Given the description of an element on the screen output the (x, y) to click on. 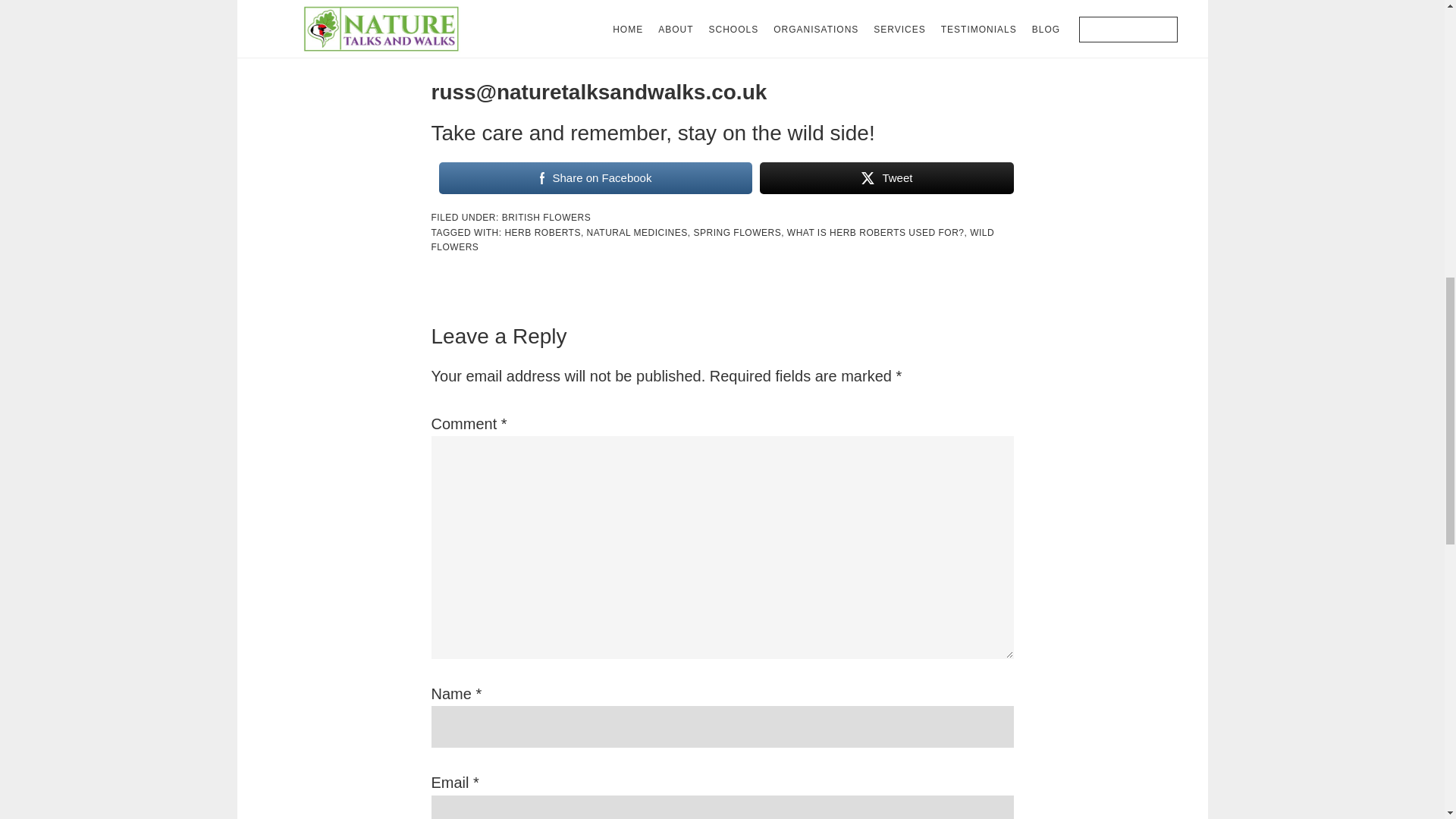
Blog (520, 45)
